Given the description of an element on the screen output the (x, y) to click on. 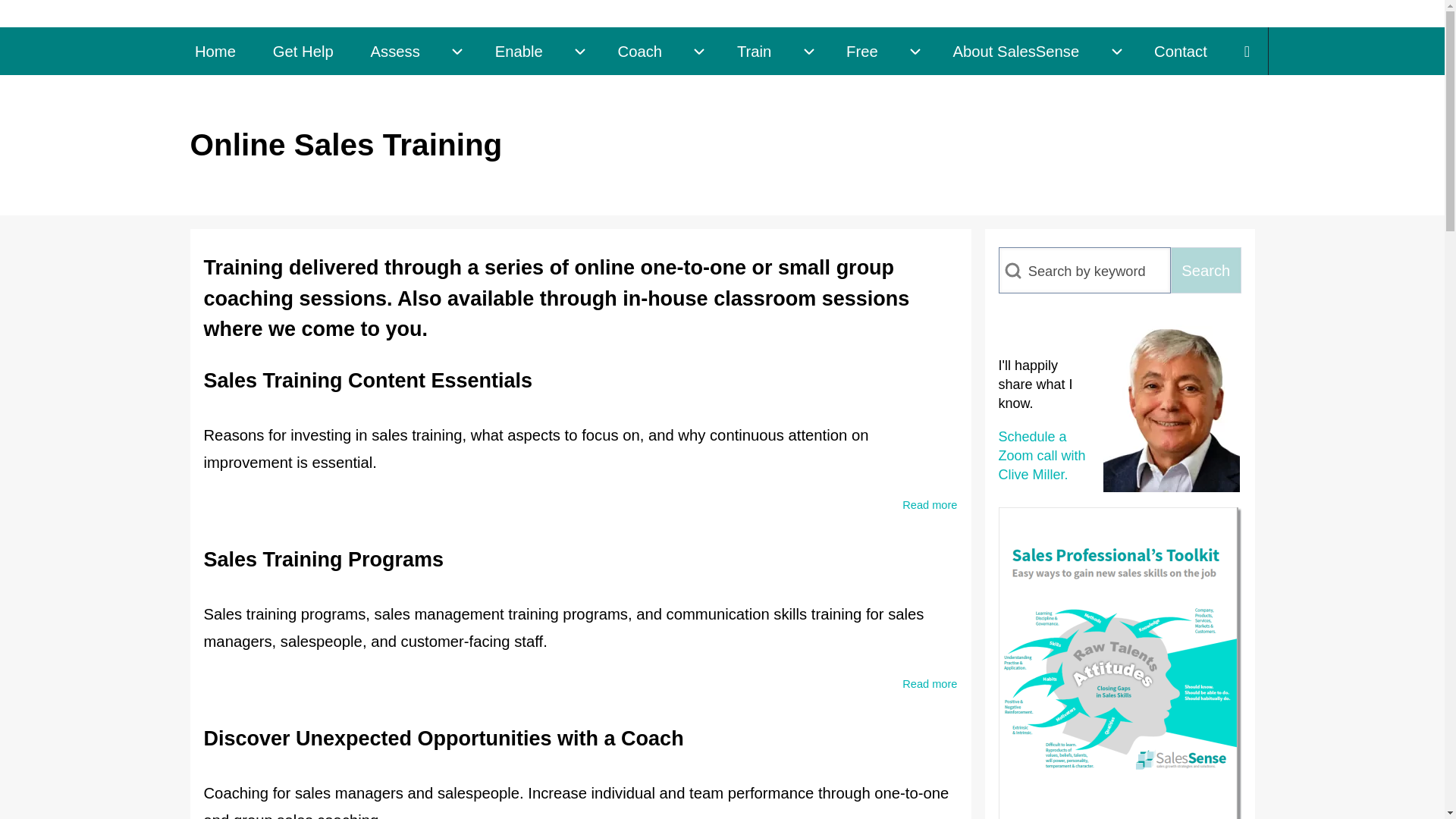
Coach (638, 51)
Get Help (302, 51)
Assess (395, 51)
Home (214, 51)
Train (753, 51)
Search (1205, 270)
Search (1205, 270)
Free (862, 51)
Overview of our coaching services. (638, 51)
Enable (518, 51)
